Given the description of an element on the screen output the (x, y) to click on. 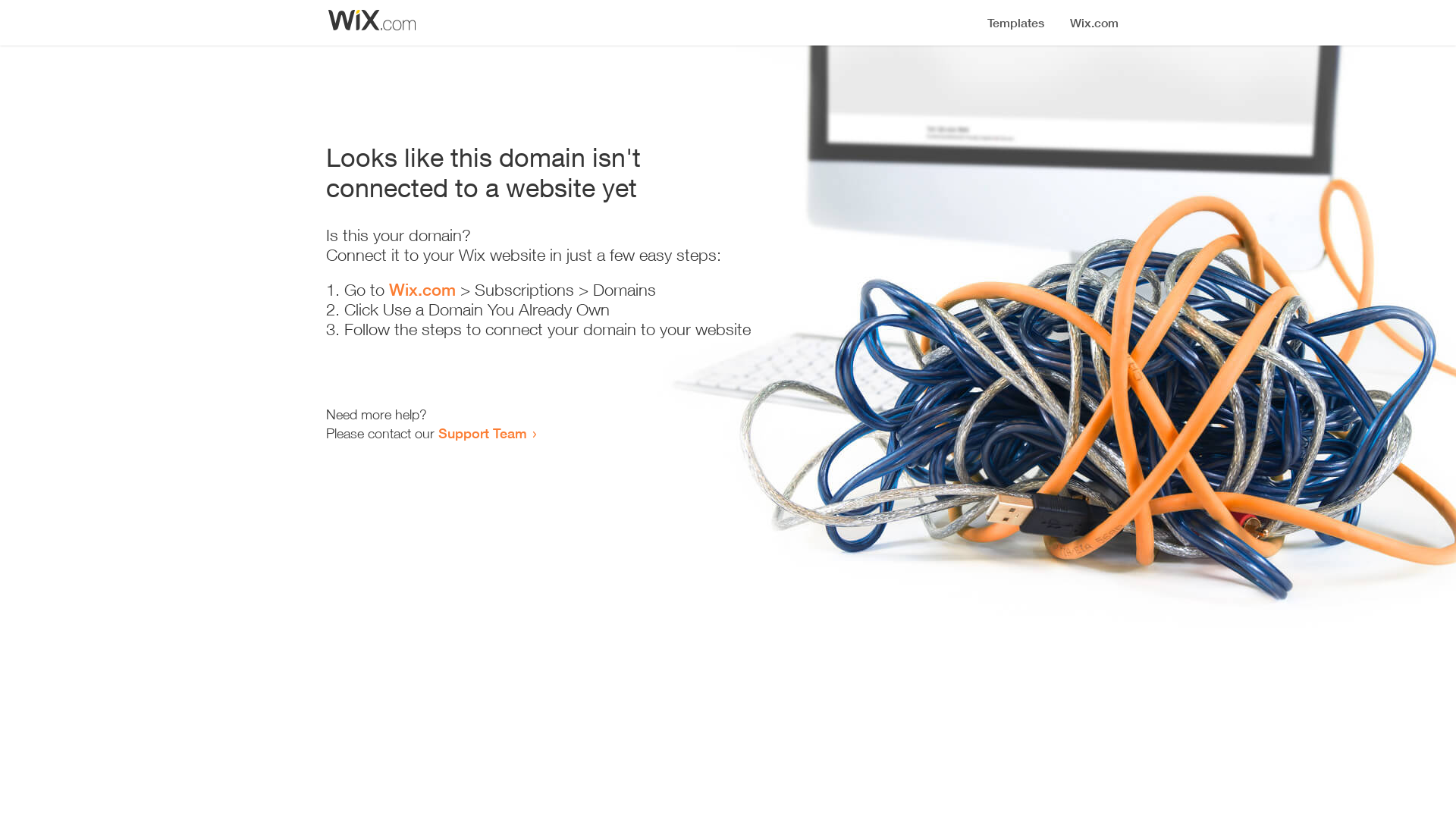
Support Team Element type: text (482, 432)
Wix.com Element type: text (422, 289)
